Given the description of an element on the screen output the (x, y) to click on. 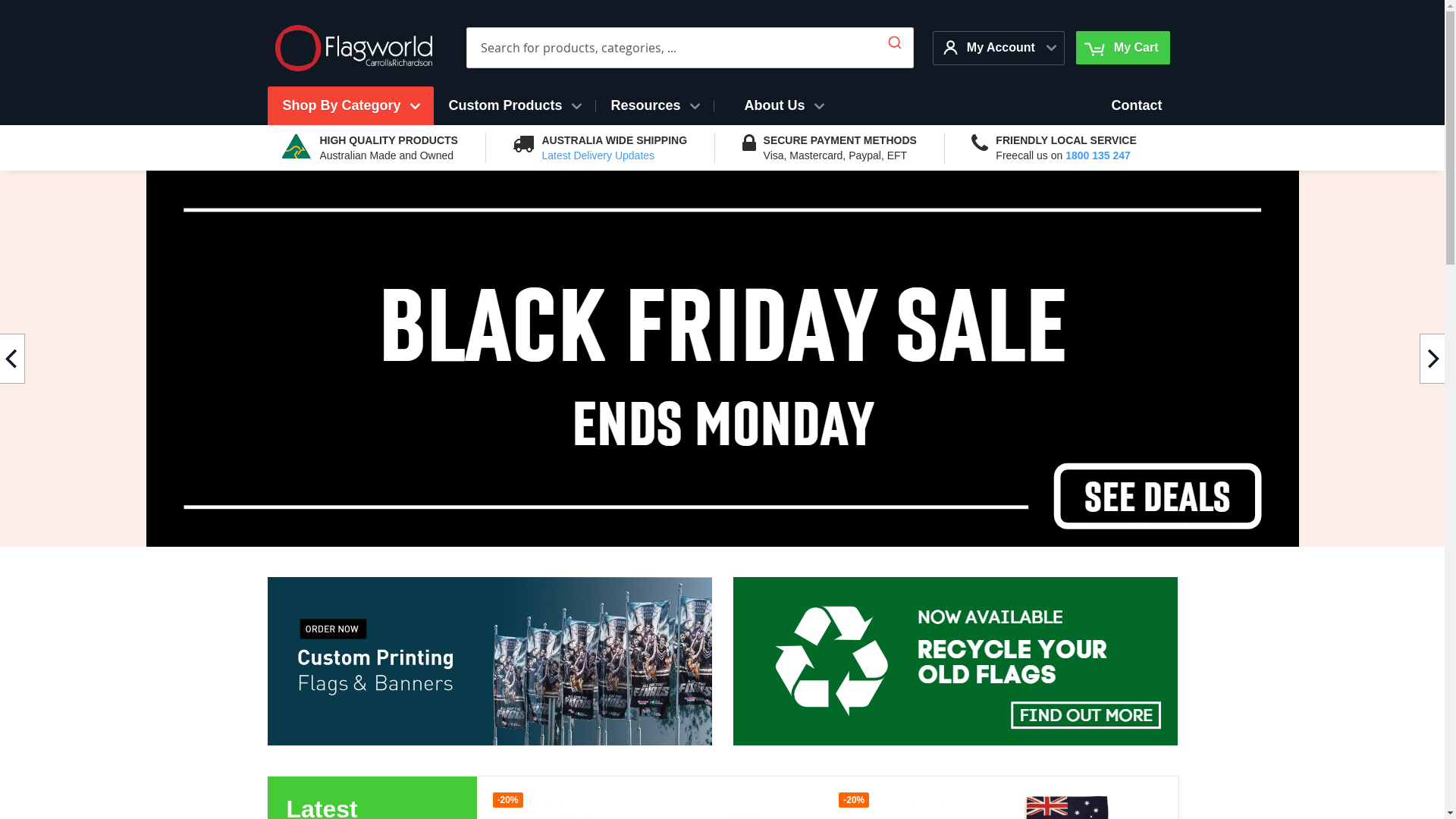
Custom Printing Element type: hover (488, 584)
My Account Element type: text (991, 46)
Custom Products Element type: text (514, 105)
Resources Element type: text (654, 105)
Contact Element type: text (1136, 105)
Shop By Category Element type: text (349, 105)
1800 135 247 Element type: text (1097, 155)
Latest Delivery Updates Element type: text (597, 155)
Submit Element type: hover (894, 39)
-20% Element type: text (853, 798)
Flagworld Logo Element type: hover (352, 48)
Flag recycling Element type: hover (954, 584)
My Cart Element type: text (1122, 47)
About Us Element type: text (783, 105)
-20% Element type: text (507, 798)
